Given the description of an element on the screen output the (x, y) to click on. 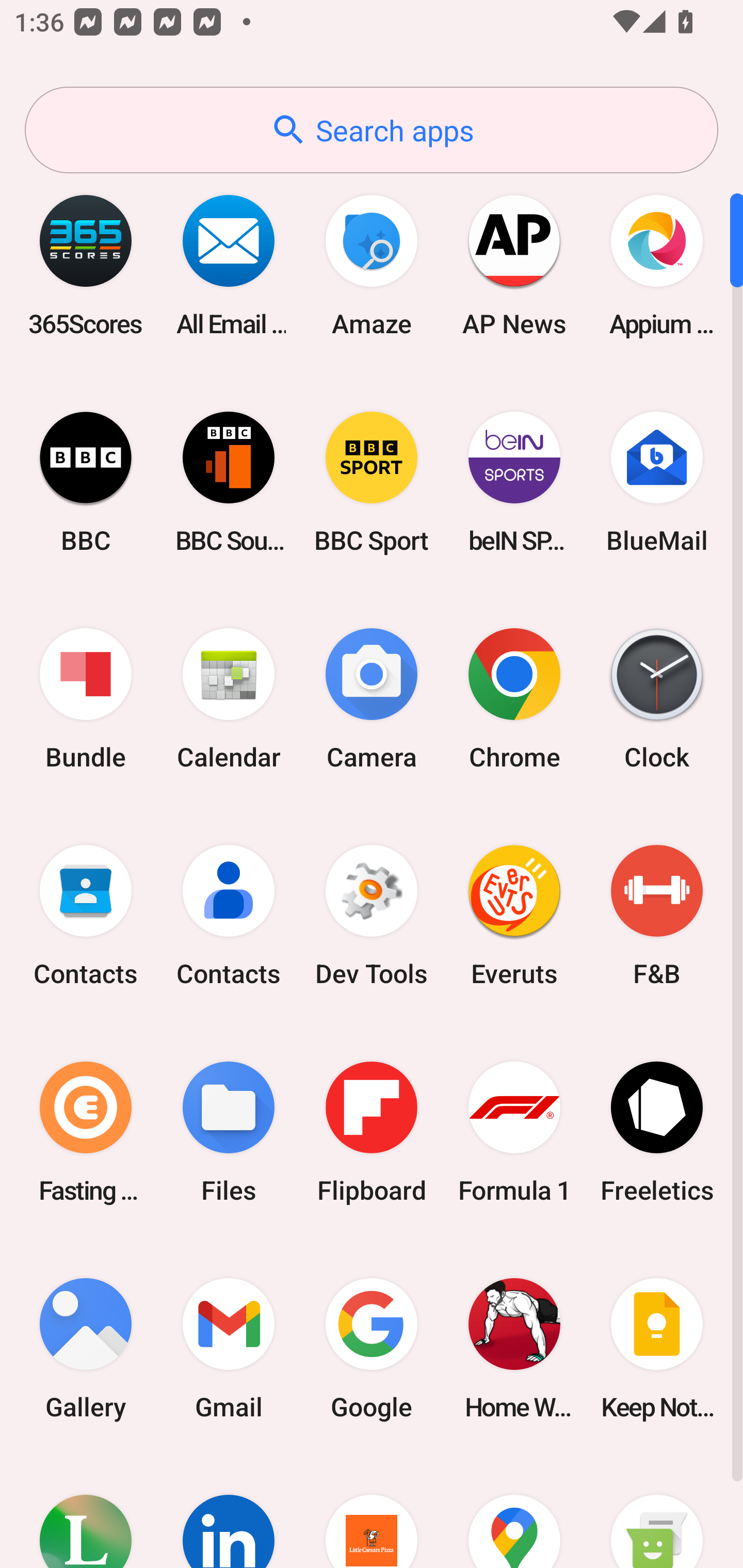
  Search apps (371, 130)
365Scores (85, 264)
All Email Connect (228, 264)
Amaze (371, 264)
AP News (514, 264)
Appium Settings (656, 264)
BBC (85, 482)
BBC Sounds (228, 482)
BBC Sport (371, 482)
beIN SPORTS (514, 482)
BlueMail (656, 482)
Bundle (85, 699)
Calendar (228, 699)
Camera (371, 699)
Chrome (514, 699)
Clock (656, 699)
Contacts (85, 915)
Contacts (228, 915)
Dev Tools (371, 915)
Everuts (514, 915)
F&B (656, 915)
Fasting Coach (85, 1131)
Files (228, 1131)
Flipboard (371, 1131)
Formula 1 (514, 1131)
Freeletics (656, 1131)
Gallery (85, 1348)
Gmail (228, 1348)
Google (371, 1348)
Home Workout (514, 1348)
Keep Notes (656, 1348)
Lifesum (85, 1512)
LinkedIn (228, 1512)
Little Caesars Pizza (371, 1512)
Maps (514, 1512)
Messaging (656, 1512)
